Given the description of an element on the screen output the (x, y) to click on. 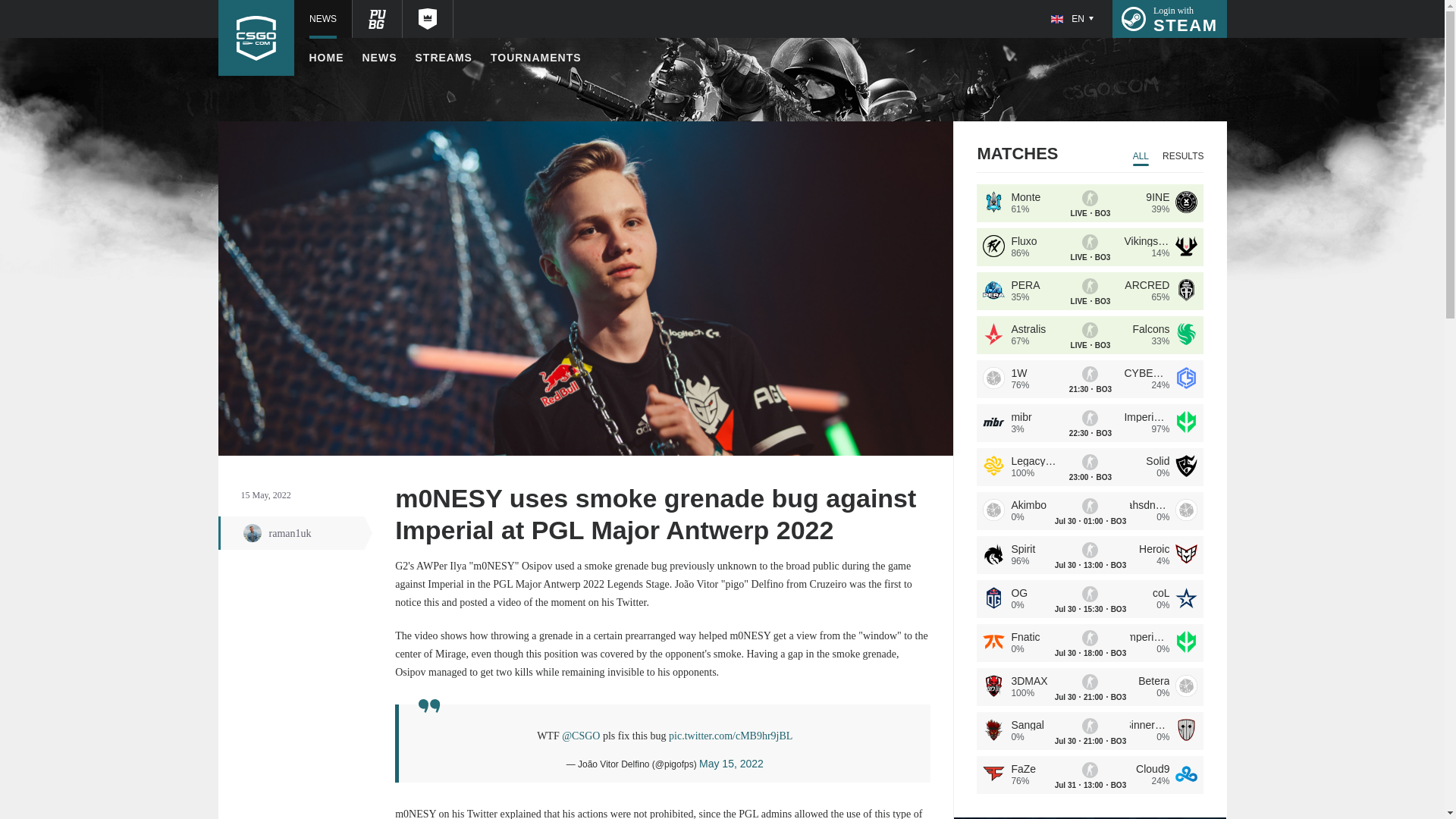
May 15, 2022 (379, 57)
raman1uk (1169, 18)
STREAMS (730, 763)
TOURNAMENTS (295, 532)
HOME (442, 57)
